Given the description of an element on the screen output the (x, y) to click on. 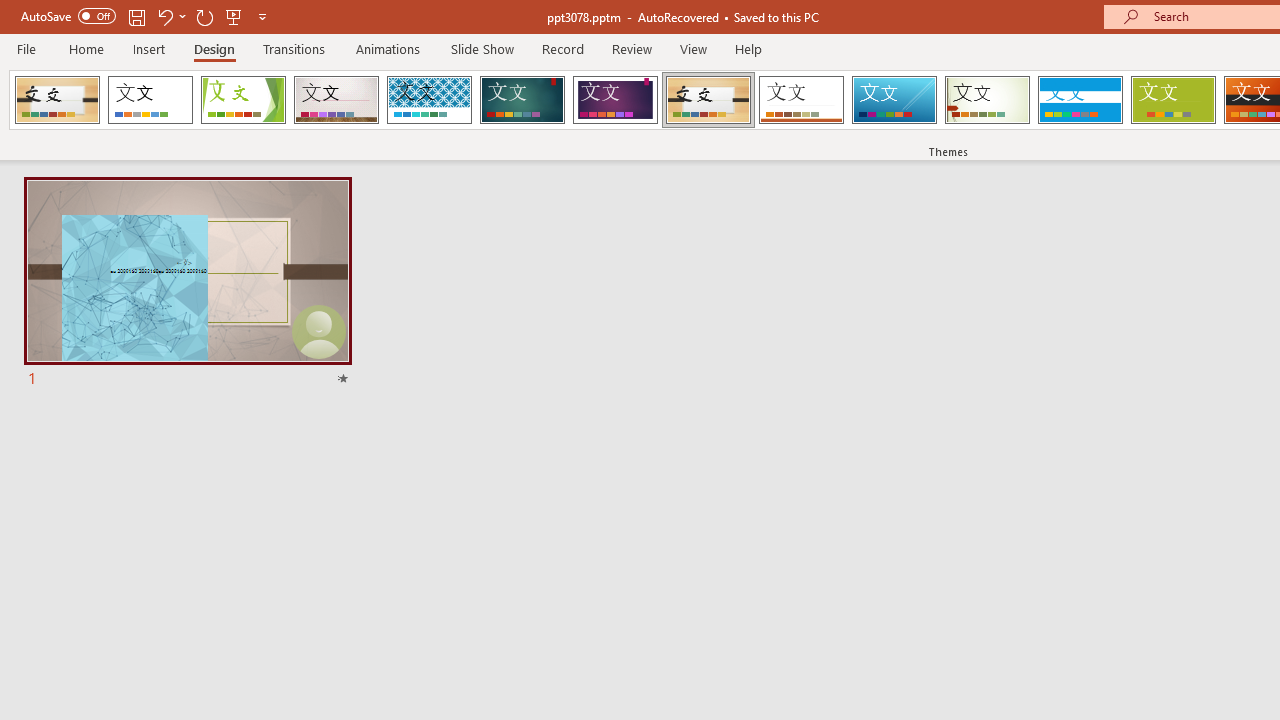
Basis (1172, 100)
